Given the description of an element on the screen output the (x, y) to click on. 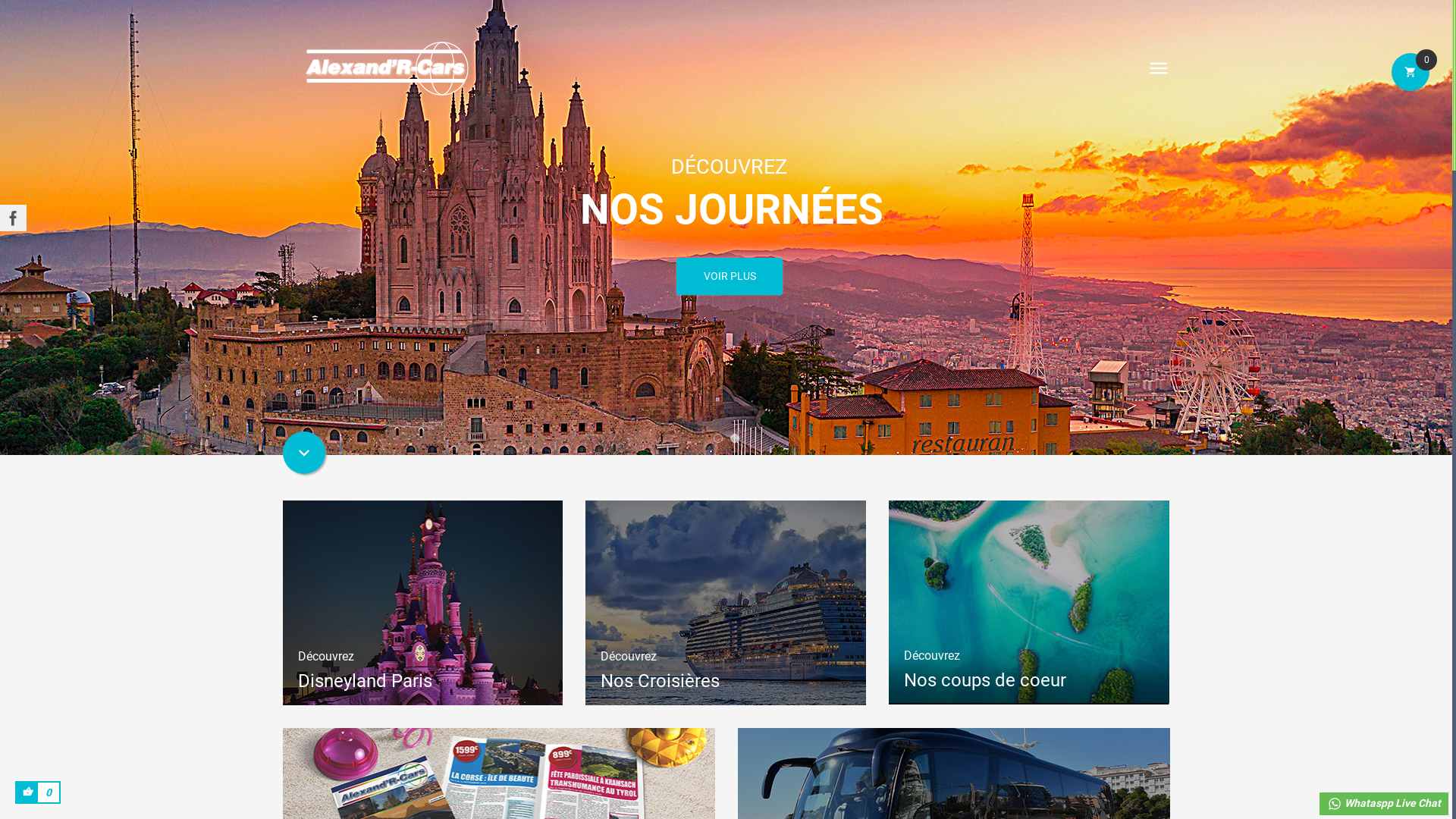
Whataspp Live Chat Element type: text (1383, 803)
VOIR PLUS Element type: text (729, 275)
